Given the description of an element on the screen output the (x, y) to click on. 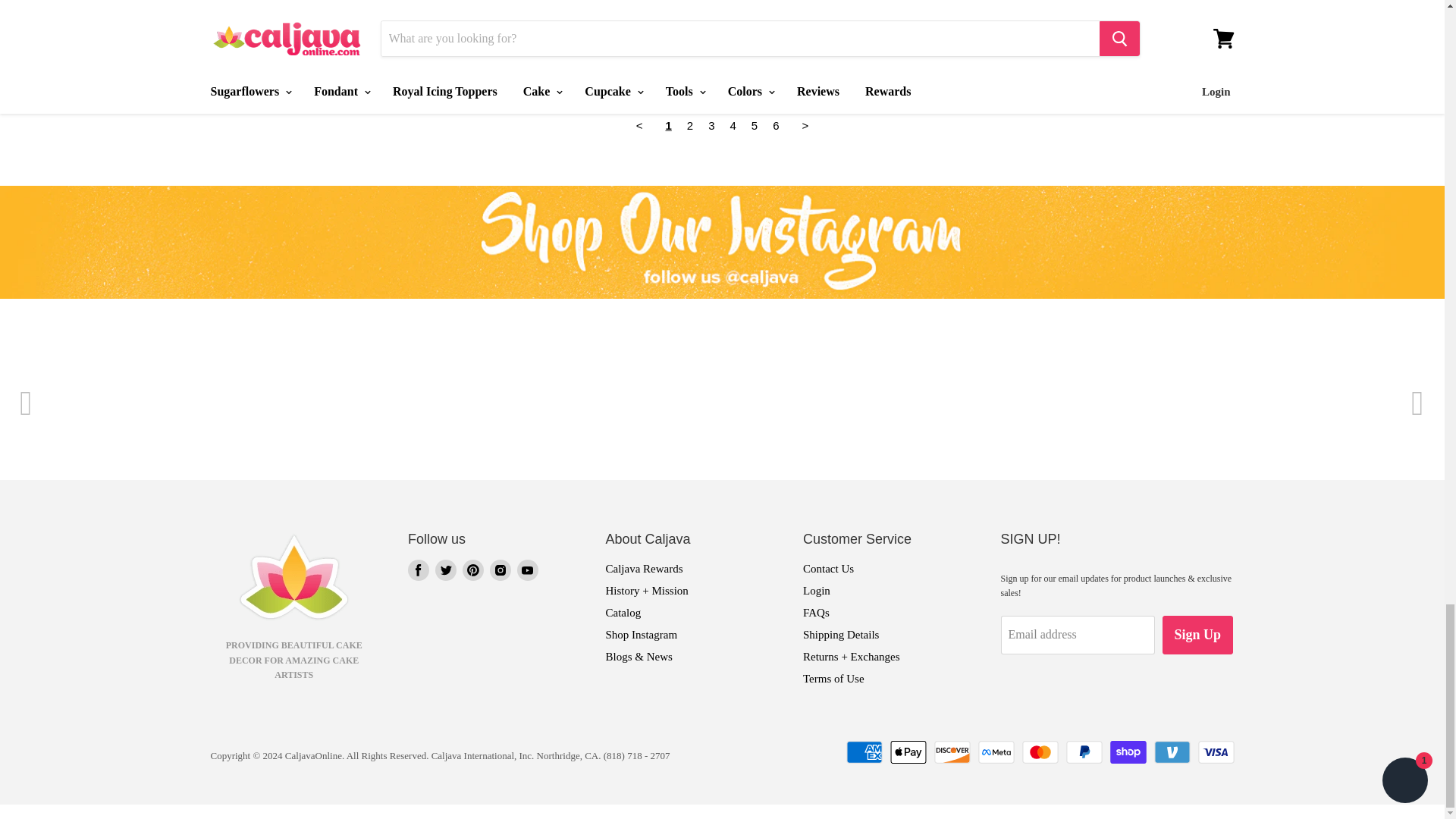
Mastercard (1040, 752)
Meta Pay (996, 752)
Instagram (499, 569)
PayPal (1083, 752)
Apple Pay (907, 752)
Discover (952, 752)
Pinterest (473, 569)
Facebook (418, 569)
Twitter (446, 569)
Youtube (527, 569)
American Express (863, 752)
